Given the description of an element on the screen output the (x, y) to click on. 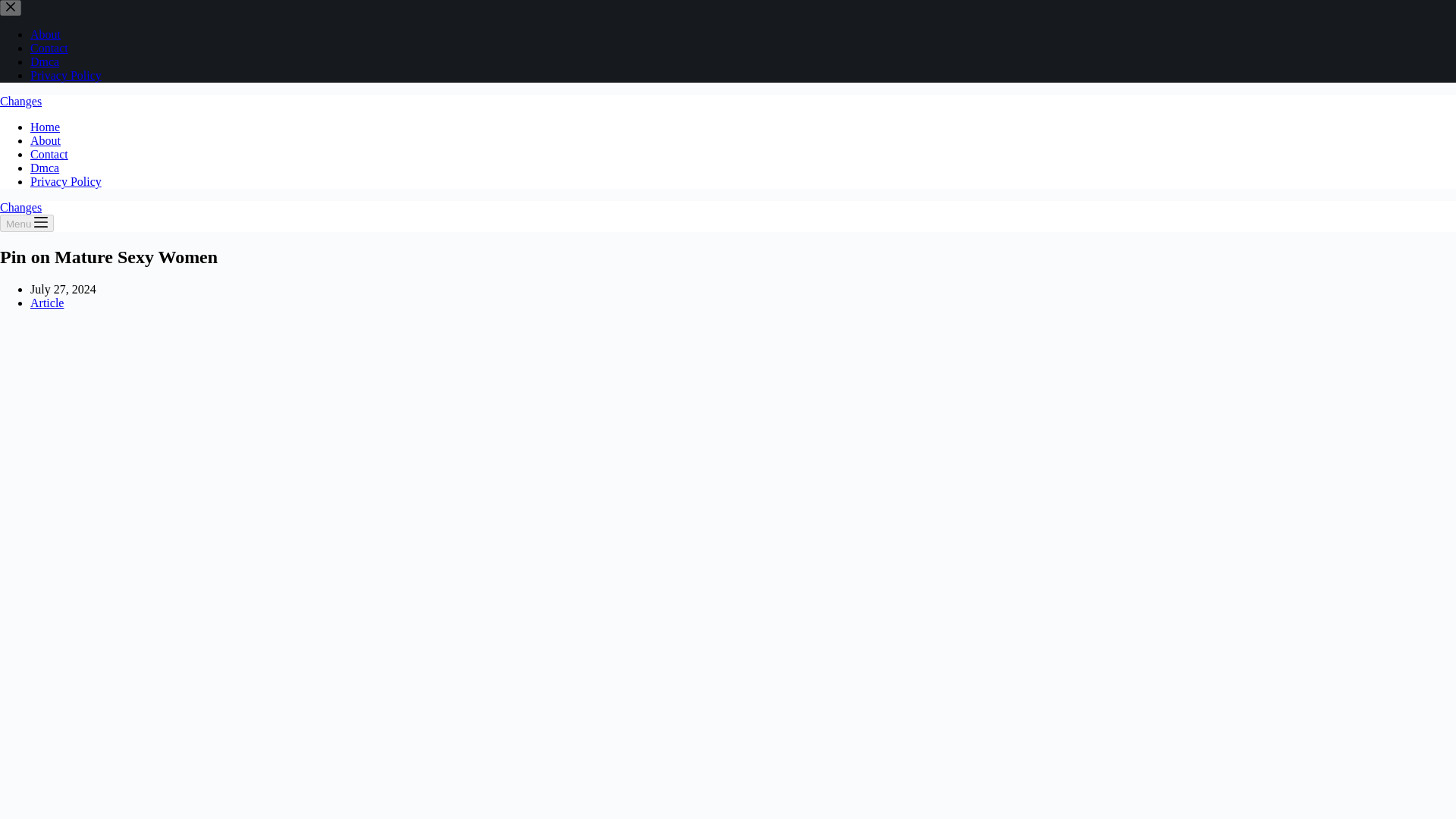
Contact (49, 154)
About (45, 140)
Privacy Policy (65, 181)
Changes (21, 101)
Privacy Policy (65, 74)
Article (47, 302)
Changes (21, 206)
Contact (49, 47)
Menu (26, 222)
Dmca (44, 167)
Home (44, 126)
About (45, 33)
Dmca (44, 61)
